Given the description of an element on the screen output the (x, y) to click on. 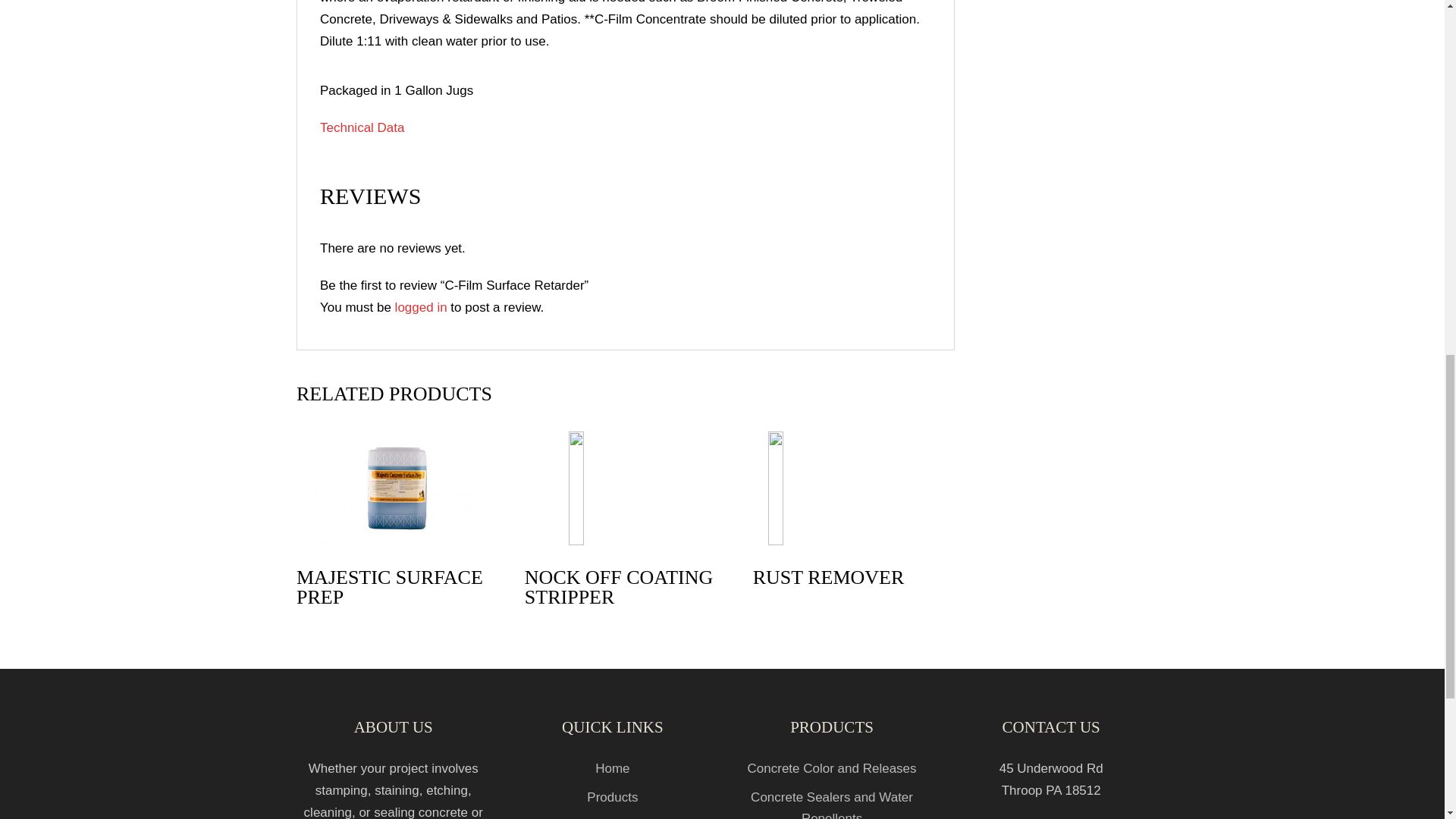
Information (612, 818)
Technical Data (362, 127)
logged in (420, 307)
RUST REMOVER (853, 514)
MAJESTIC SURFACE PREP (397, 524)
Products (611, 797)
Home (611, 768)
NOCK OFF COATING STRIPPER (625, 524)
